Given the description of an element on the screen output the (x, y) to click on. 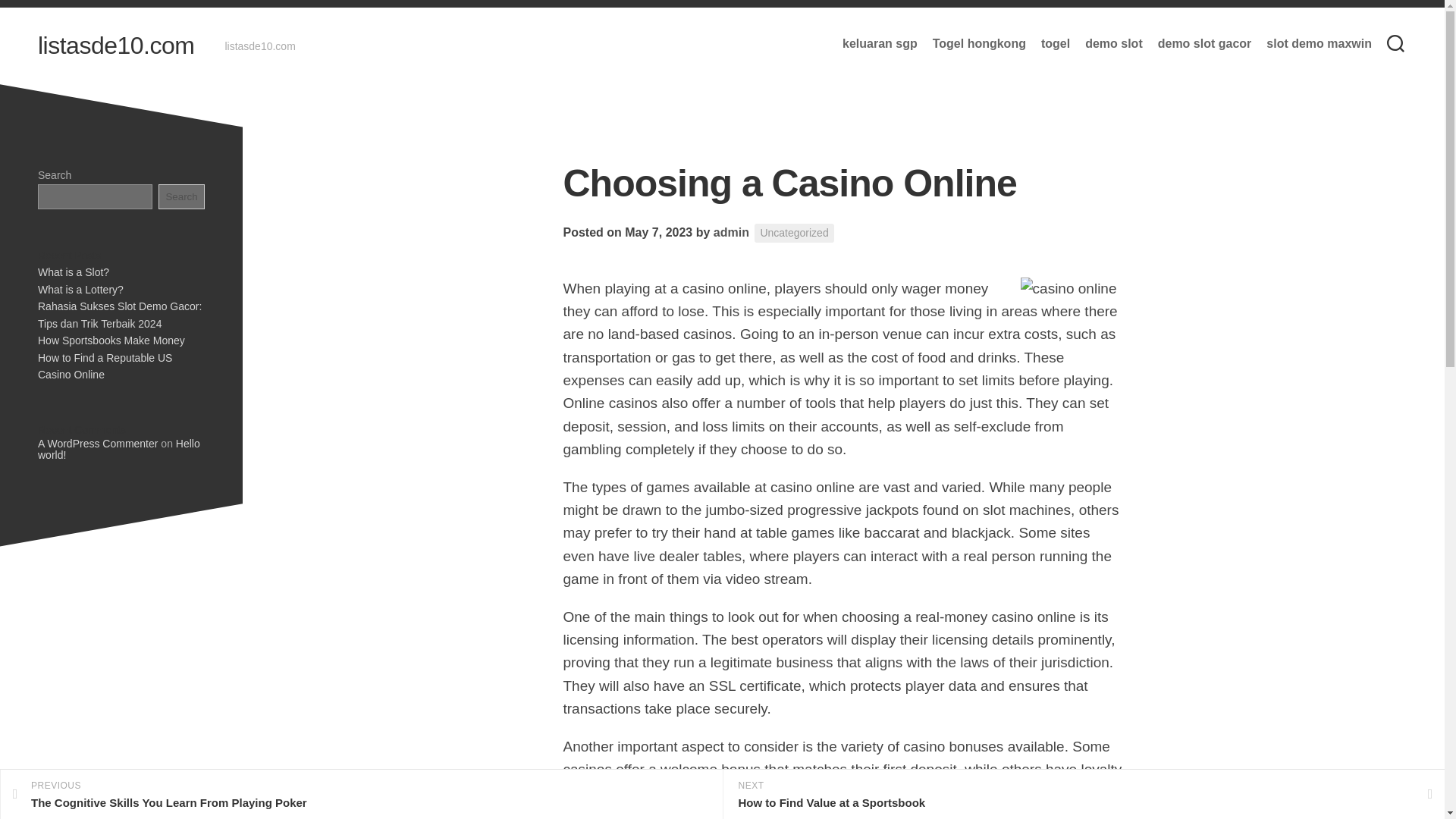
How to Find a Reputable US Casino Online (104, 366)
Uncategorized (793, 232)
keluaran sgp (880, 43)
demo slot gacor (1204, 43)
slot demo maxwin (1318, 43)
Search (181, 195)
Rahasia Sukses Slot Demo Gacor: Tips dan Trik Terbaik 2024 (119, 315)
Posts by admin (731, 232)
How Sportsbooks Make Money (361, 794)
